Given the description of an element on the screen output the (x, y) to click on. 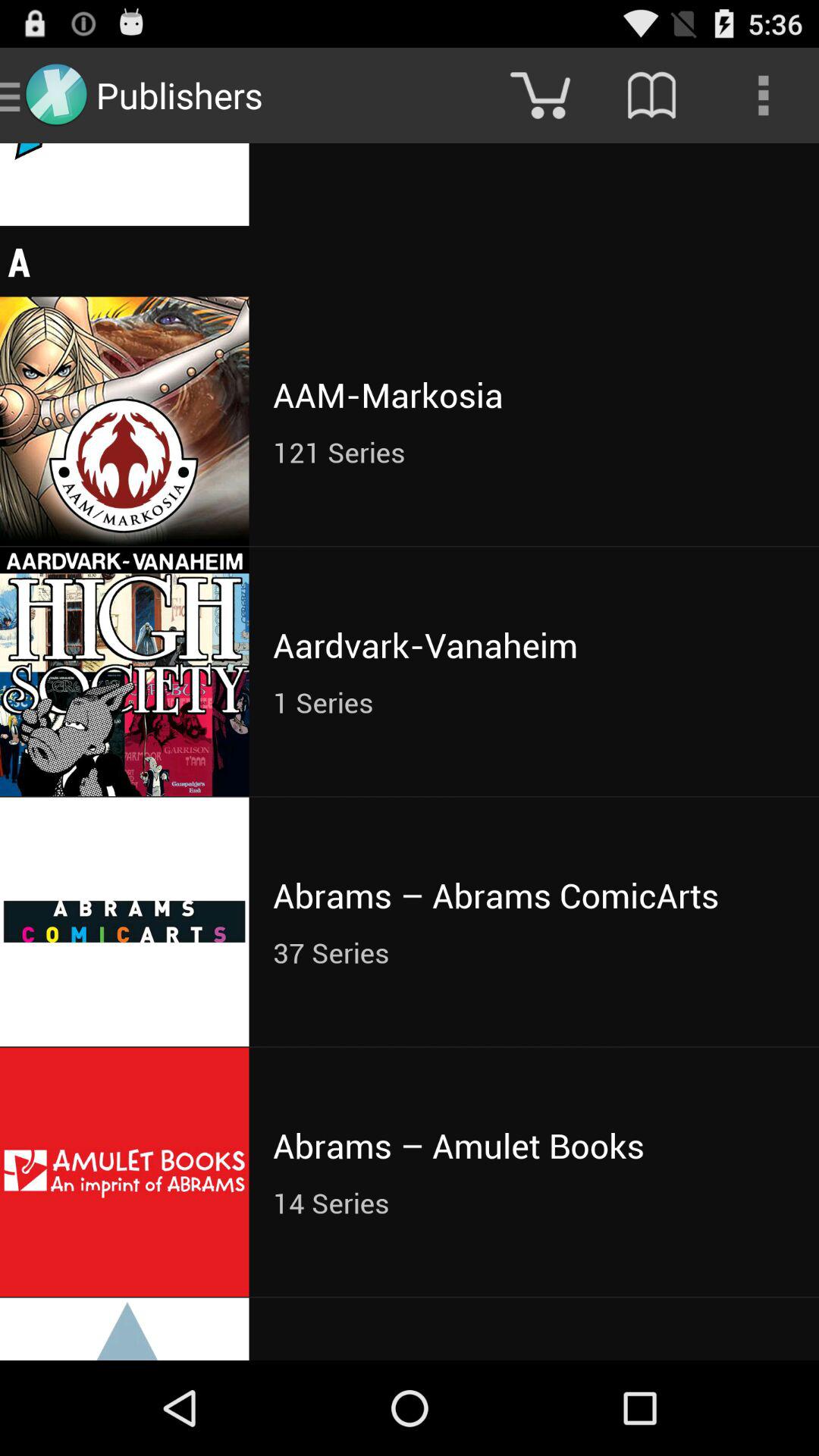
turn off icon above the 14 series icon (534, 1145)
